Given the description of an element on the screen output the (x, y) to click on. 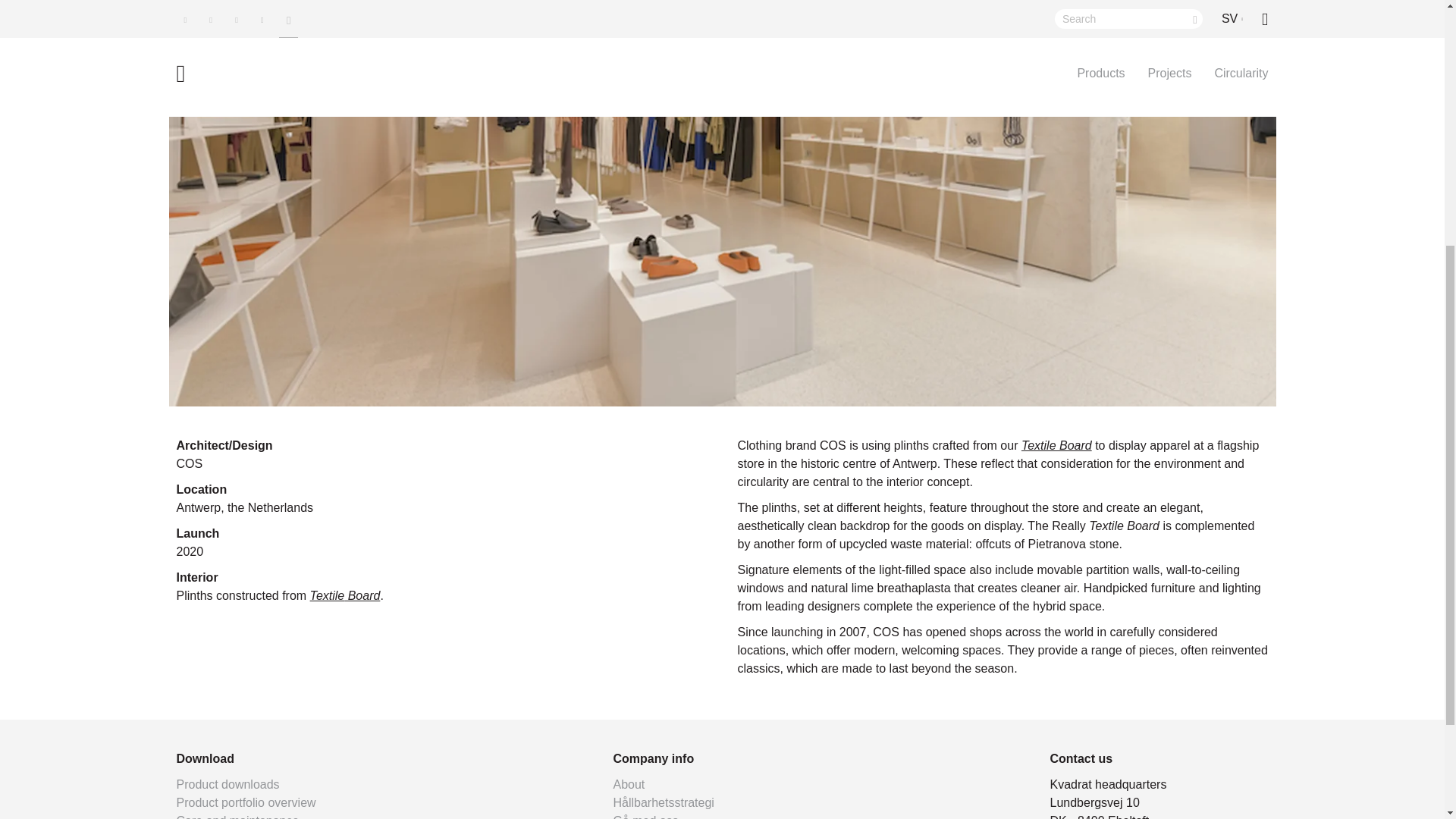
Product portfolio overview (245, 802)
Board (361, 594)
Textile (327, 594)
Product downloads (227, 784)
About (628, 784)
Textile Board (1057, 445)
